Given the description of an element on the screen output the (x, y) to click on. 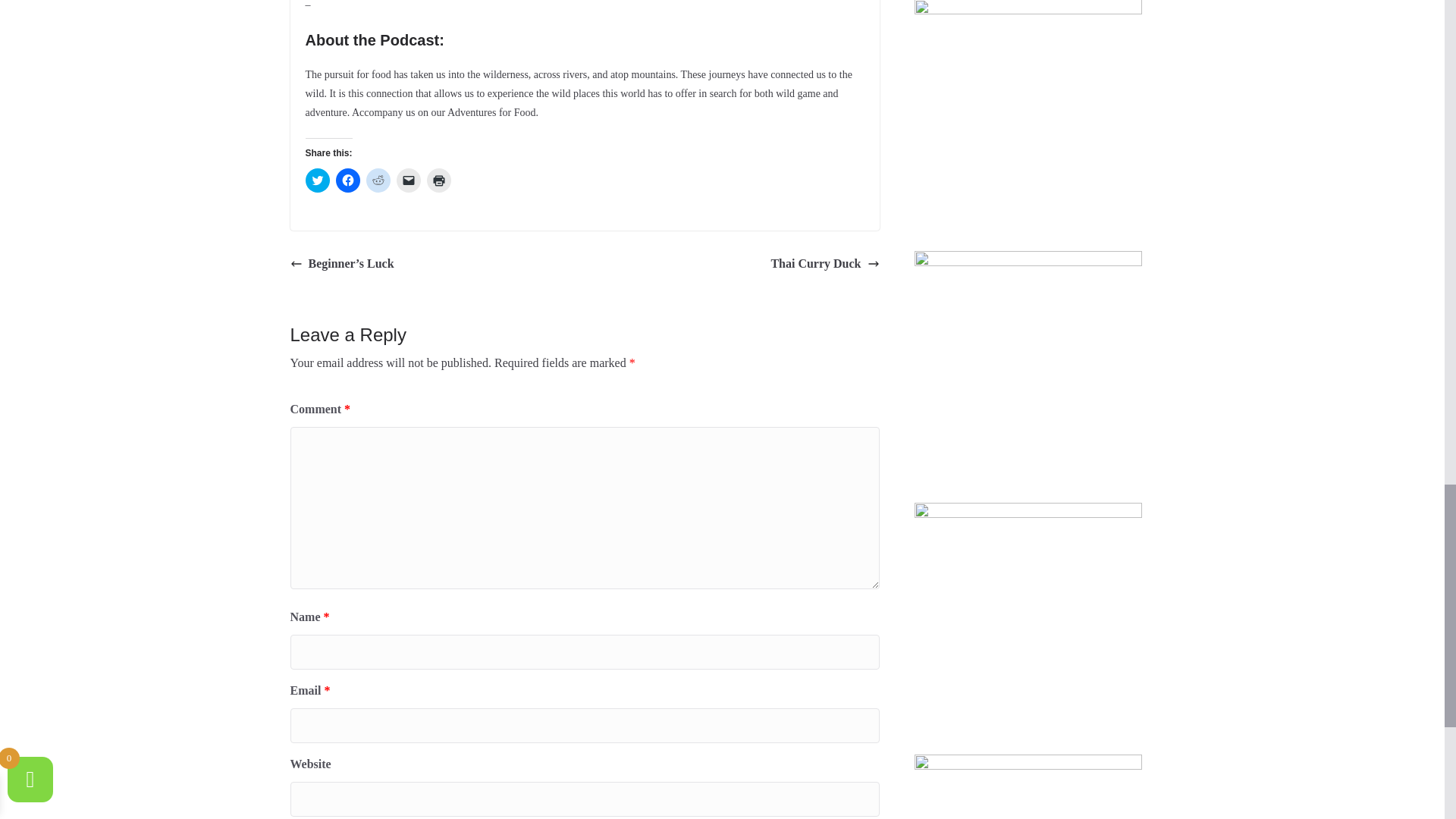
Click to share on Twitter (316, 180)
Click to share on Reddit (377, 180)
Click to email a link to a friend (408, 180)
Click to share on Facebook (346, 180)
